Given the description of an element on the screen output the (x, y) to click on. 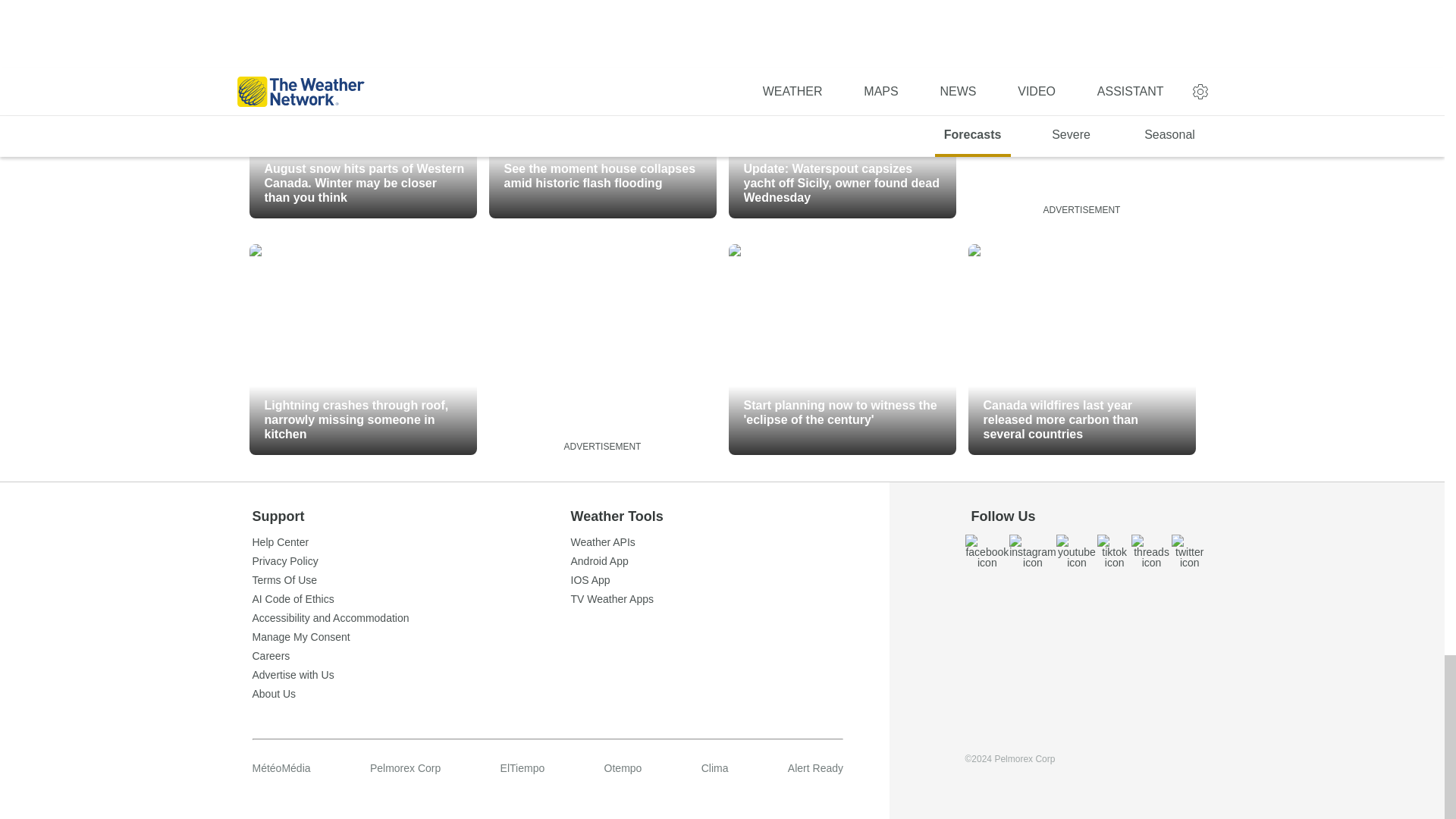
About Us (410, 693)
Start planning now to witness the 'eclipse of the century' (841, 349)
AI Code of Ethics (410, 598)
See the moment house collapses amid historic flash flooding (601, 112)
Advertise with Us (410, 674)
Privacy Policy (410, 561)
